Given the description of an element on the screen output the (x, y) to click on. 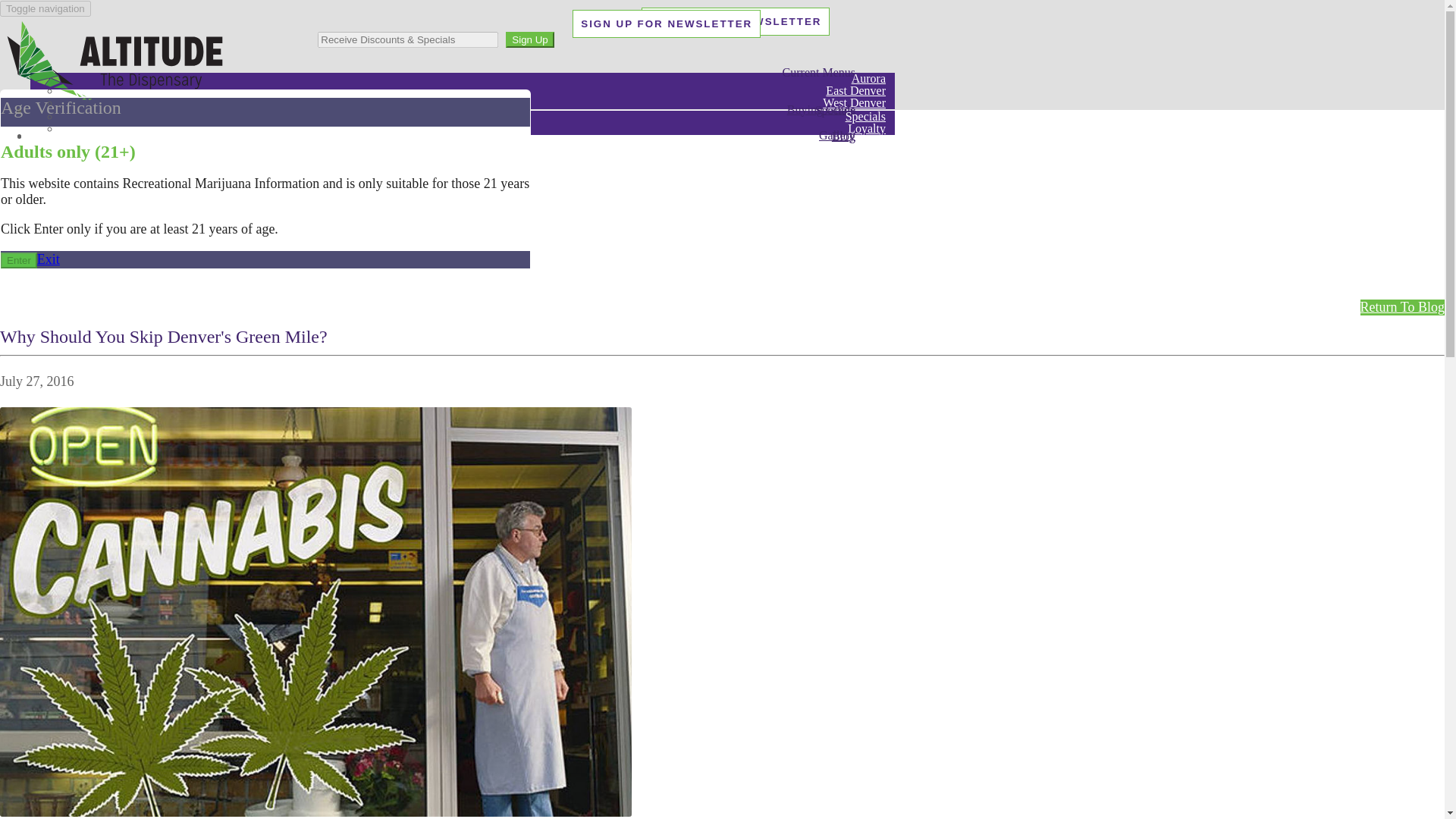
Gallery (836, 135)
Specials (835, 109)
Specials (865, 116)
Aurora (869, 78)
Exit (48, 258)
Enter (19, 260)
Current Menus (818, 72)
East Denver (855, 90)
Buying Guide (820, 109)
Sign Up (529, 39)
SIGN UP FOR NEWSLETTER (666, 23)
Loyalty (866, 128)
West Denver (854, 102)
Toggle navigation (45, 8)
Blog (843, 135)
